Given the description of an element on the screen output the (x, y) to click on. 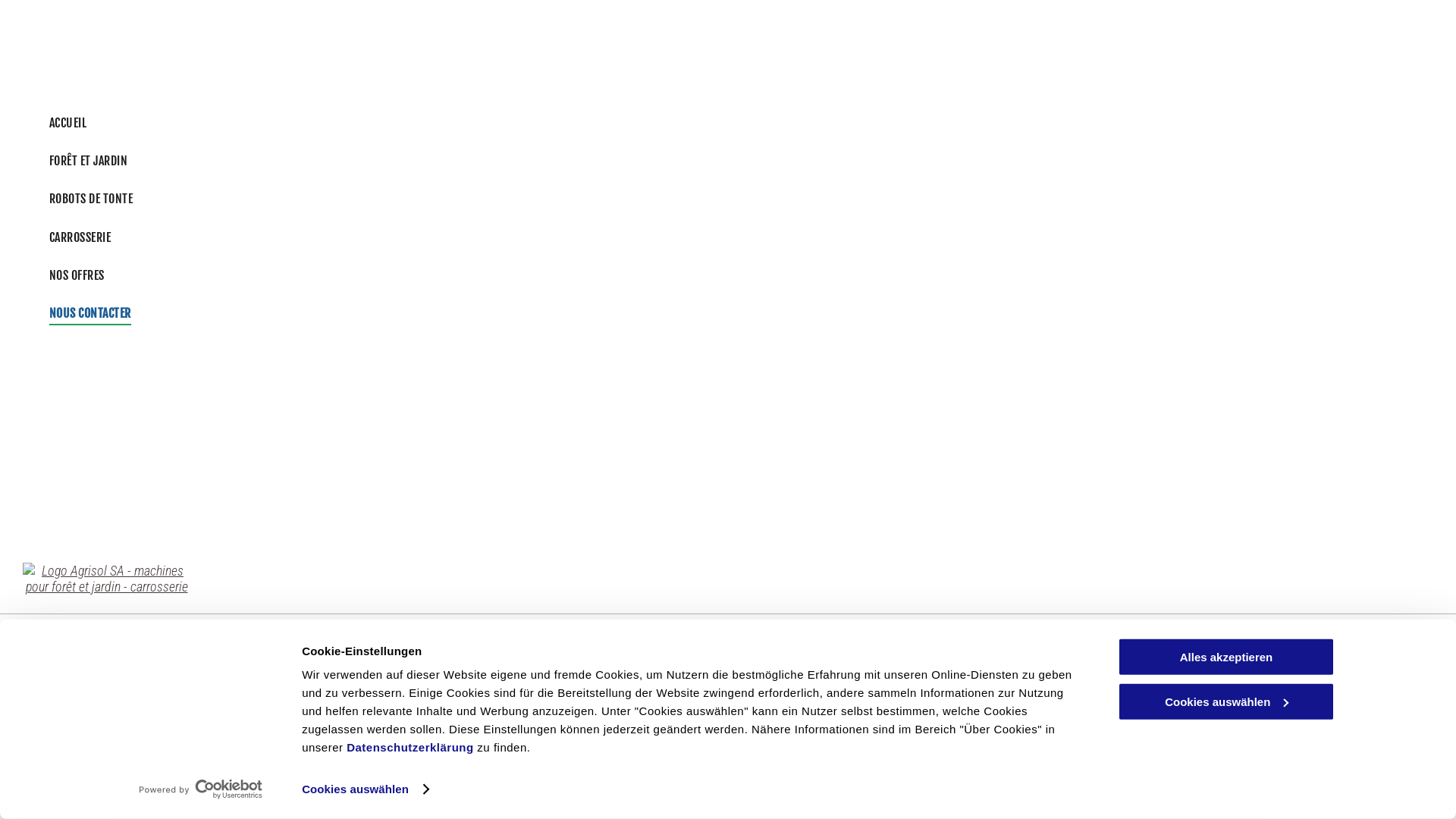
CARROSSERIE Element type: text (386, 237)
ROBOTS DE TONTE Element type: text (293, 802)
ACCUEIL Element type: text (386, 122)
CARROSSERIE Element type: text (392, 802)
ROBOTS DE TONTE Element type: text (386, 198)
NOS OFFRES Element type: text (480, 802)
Alles akzeptieren Element type: text (1225, 656)
NOS OFFRES Element type: text (386, 275)
ACCUEIL Element type: text (103, 802)
NOUS CONTACTER Element type: text (386, 313)
NOUS CONTACTER Element type: text (578, 802)
